Given the description of an element on the screen output the (x, y) to click on. 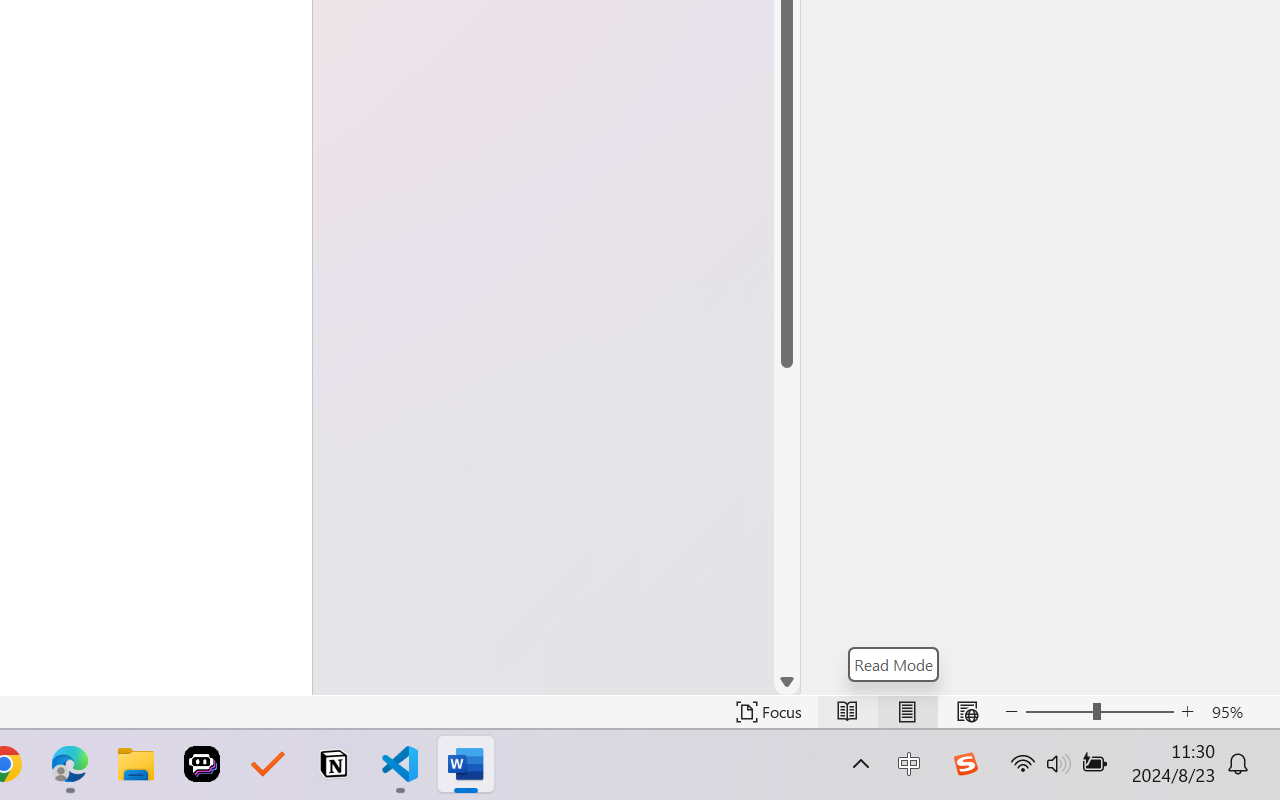
Page down (787, 518)
Line down (787, 681)
